Given the description of an element on the screen output the (x, y) to click on. 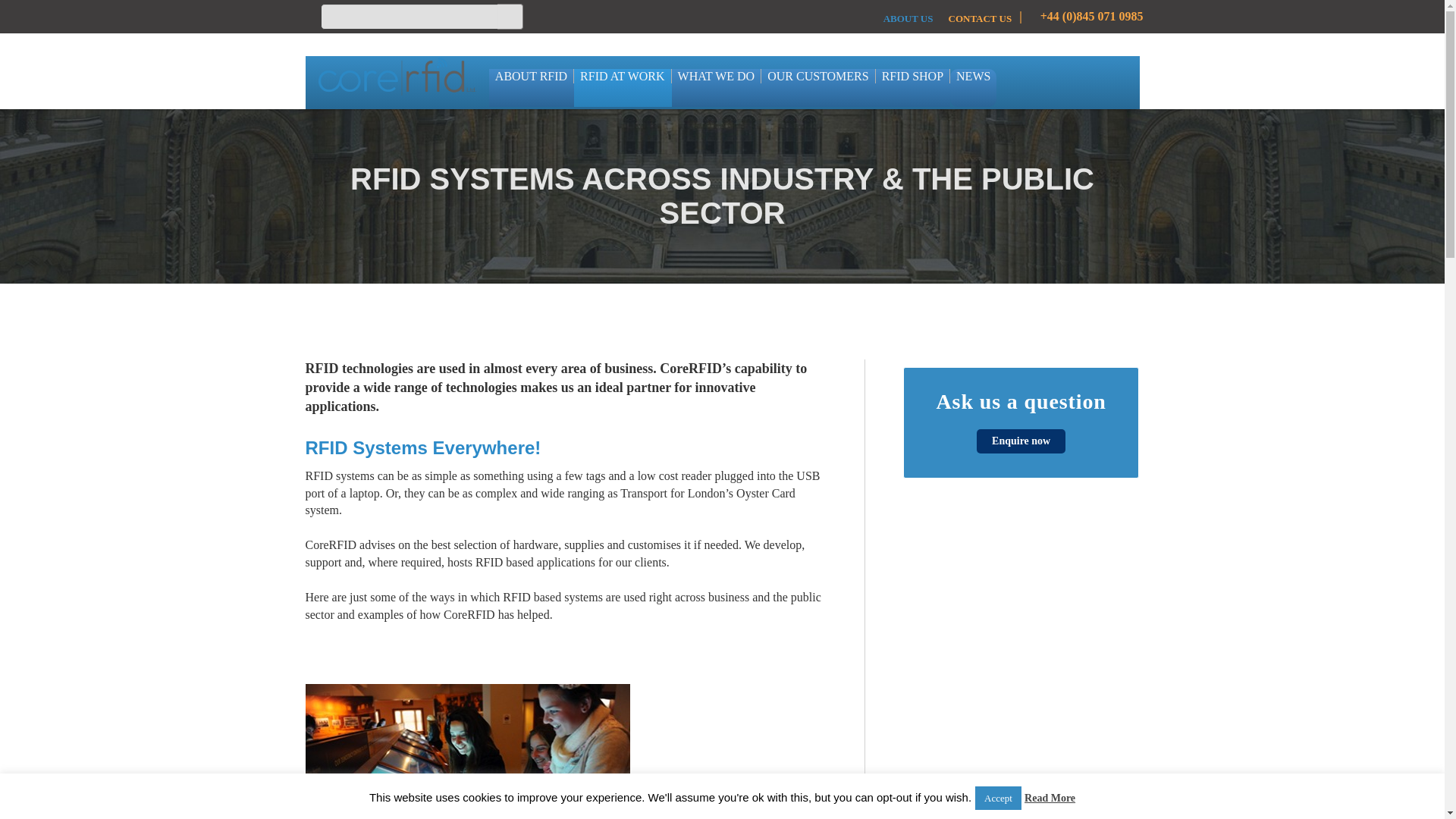
RFID AT WORK (622, 87)
CONTACT US (979, 22)
ABOUT US (908, 22)
entertainment (466, 751)
WHAT WE DO (716, 87)
ABOUT RFID (531, 87)
